Given the description of an element on the screen output the (x, y) to click on. 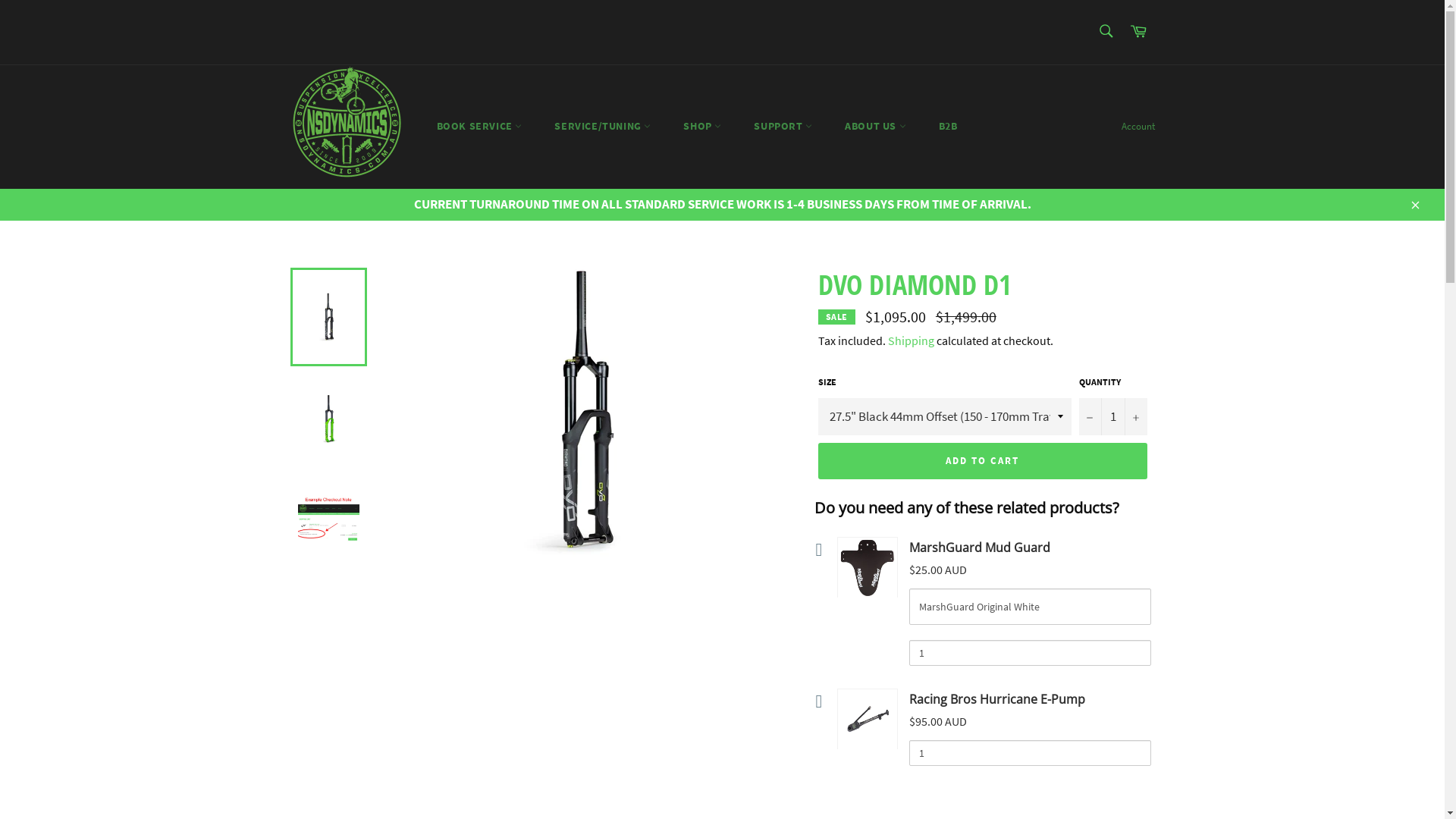
Search Element type: text (1105, 31)
Shipping Element type: text (910, 340)
SHOP Element type: text (702, 125)
ADD TO CART Element type: text (981, 460)
Racing Bros Hurricane E-Pump Element type: text (996, 698)
Cart Element type: text (1138, 32)
B2B Element type: text (947, 125)
+ Element type: text (1134, 416)
Close Element type: text (1414, 204)
Account Element type: text (1137, 126)
ABOUT US Element type: text (874, 125)
SUPPORT Element type: text (782, 125)
BOOK SERVICE Element type: text (479, 125)
SERVICE/TUNING Element type: text (602, 125)
MarshGuard Mud Guard Element type: text (978, 547)
